Given the description of an element on the screen output the (x, y) to click on. 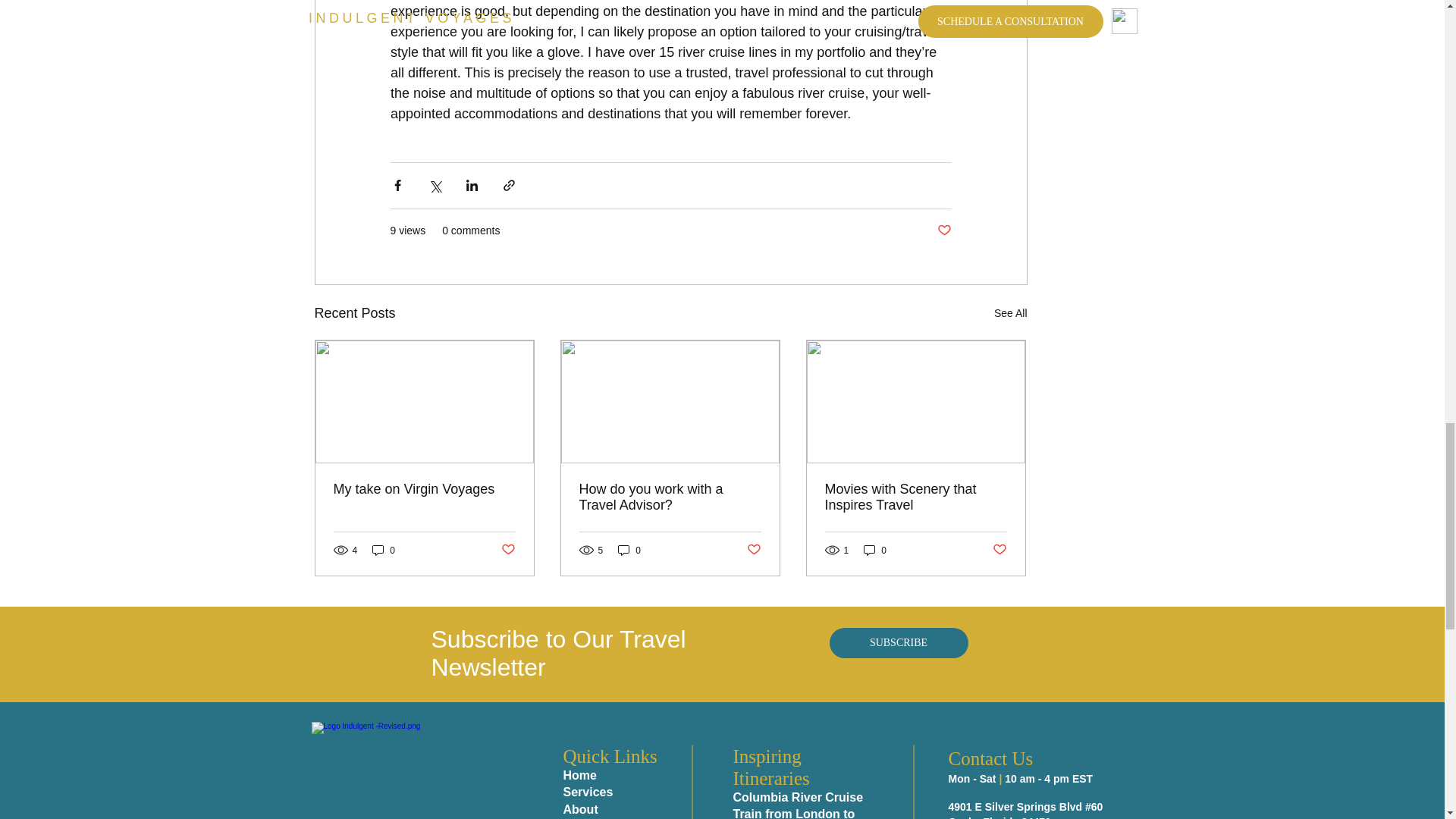
SUBSCRIBE (898, 643)
Home (578, 775)
0 (628, 549)
Post not marked as liked (944, 230)
Columbia River Cruise (797, 797)
Services (587, 791)
How do you work with a Travel Advisor? (670, 497)
0 (383, 549)
Contact Us (989, 758)
See All (1010, 313)
